Given the description of an element on the screen output the (x, y) to click on. 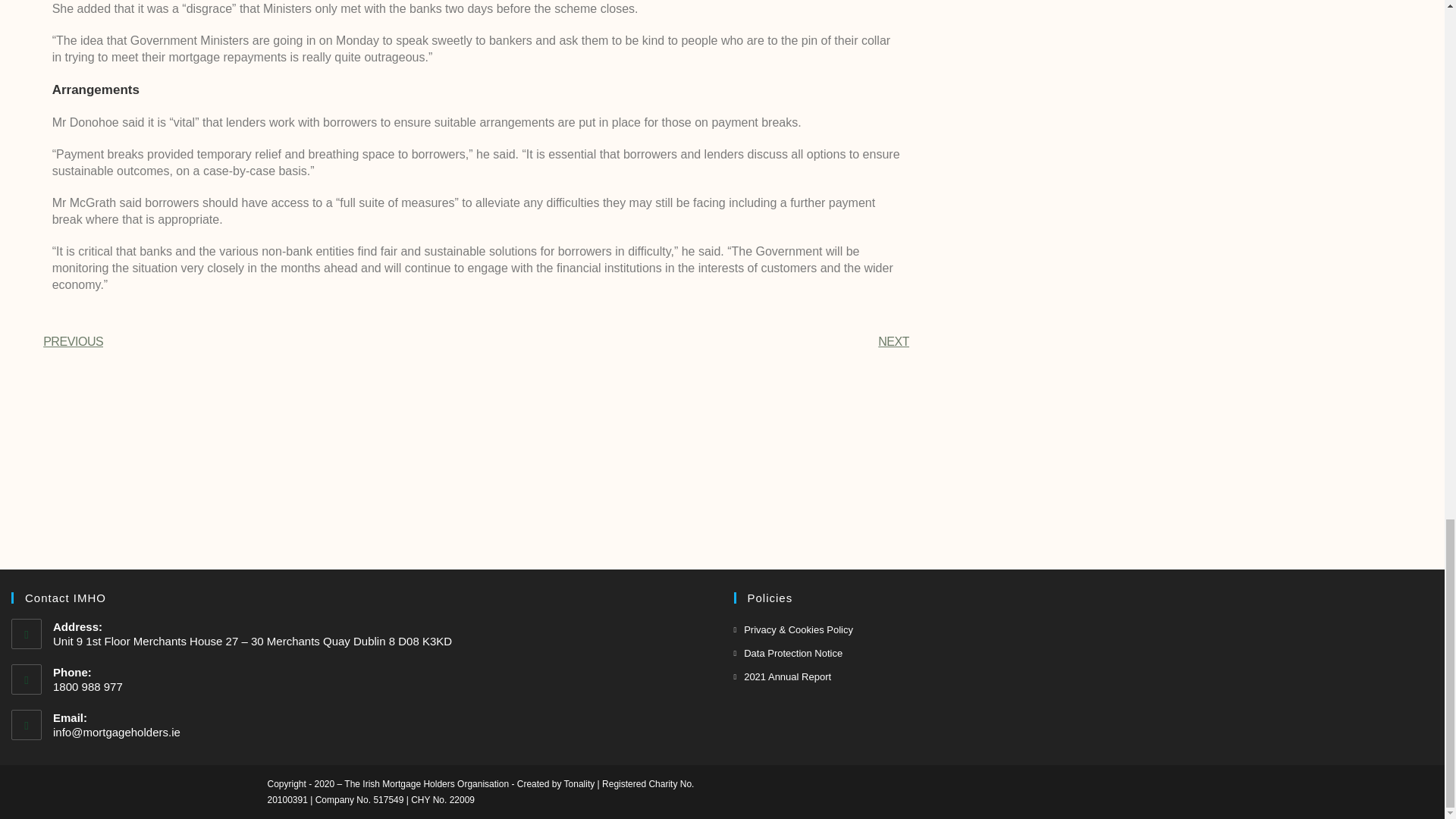
Data Protection Notice (788, 652)
1800 988 977 (381, 686)
NEXT (692, 341)
PREVIOUS (259, 341)
2021 Annual Report (782, 676)
